Given the description of an element on the screen output the (x, y) to click on. 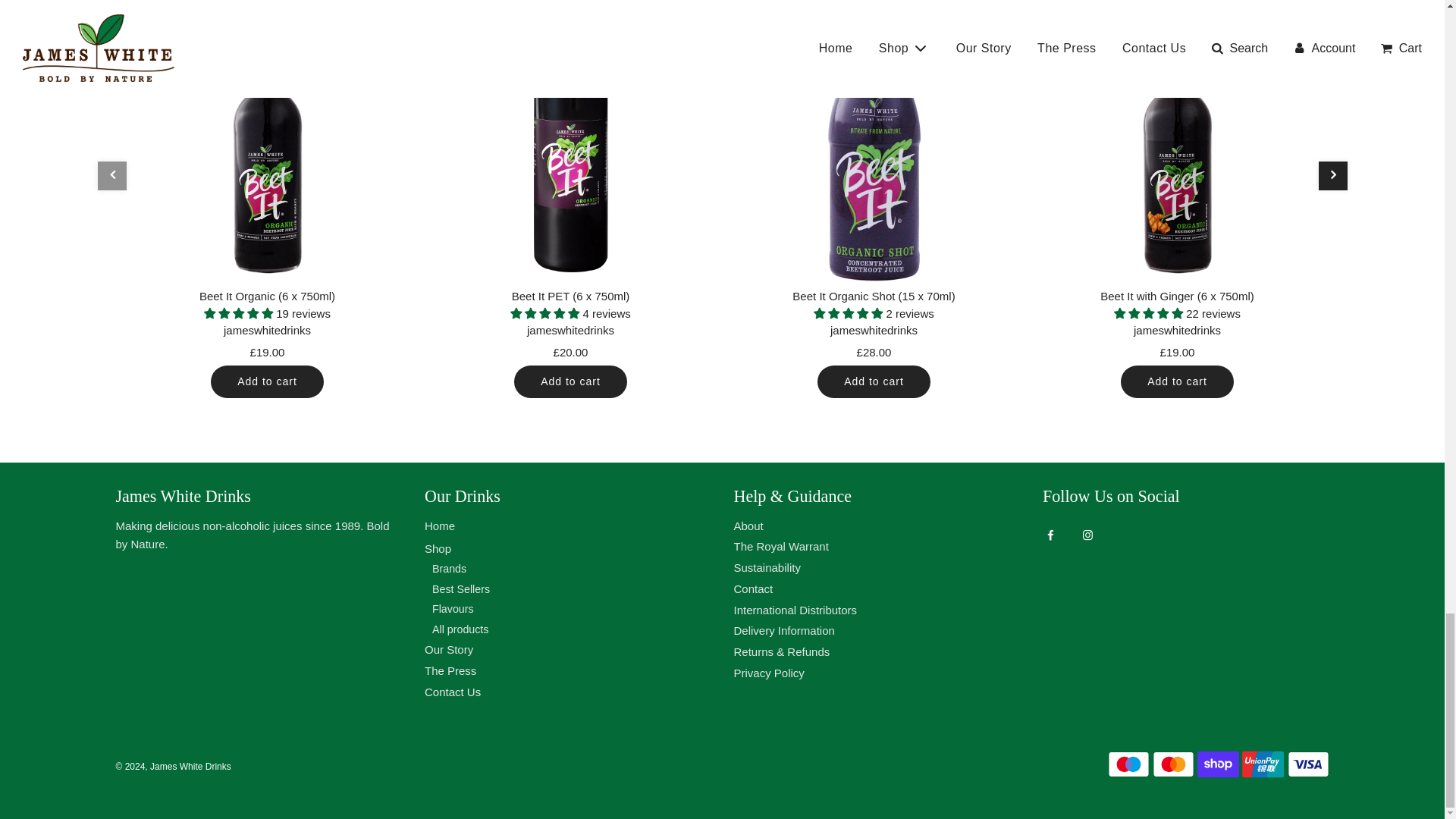
Maestro (1129, 764)
Shop Pay (1217, 764)
Mastercard (1173, 764)
Union Pay (1262, 764)
Visa (1308, 764)
